Given the description of an element on the screen output the (x, y) to click on. 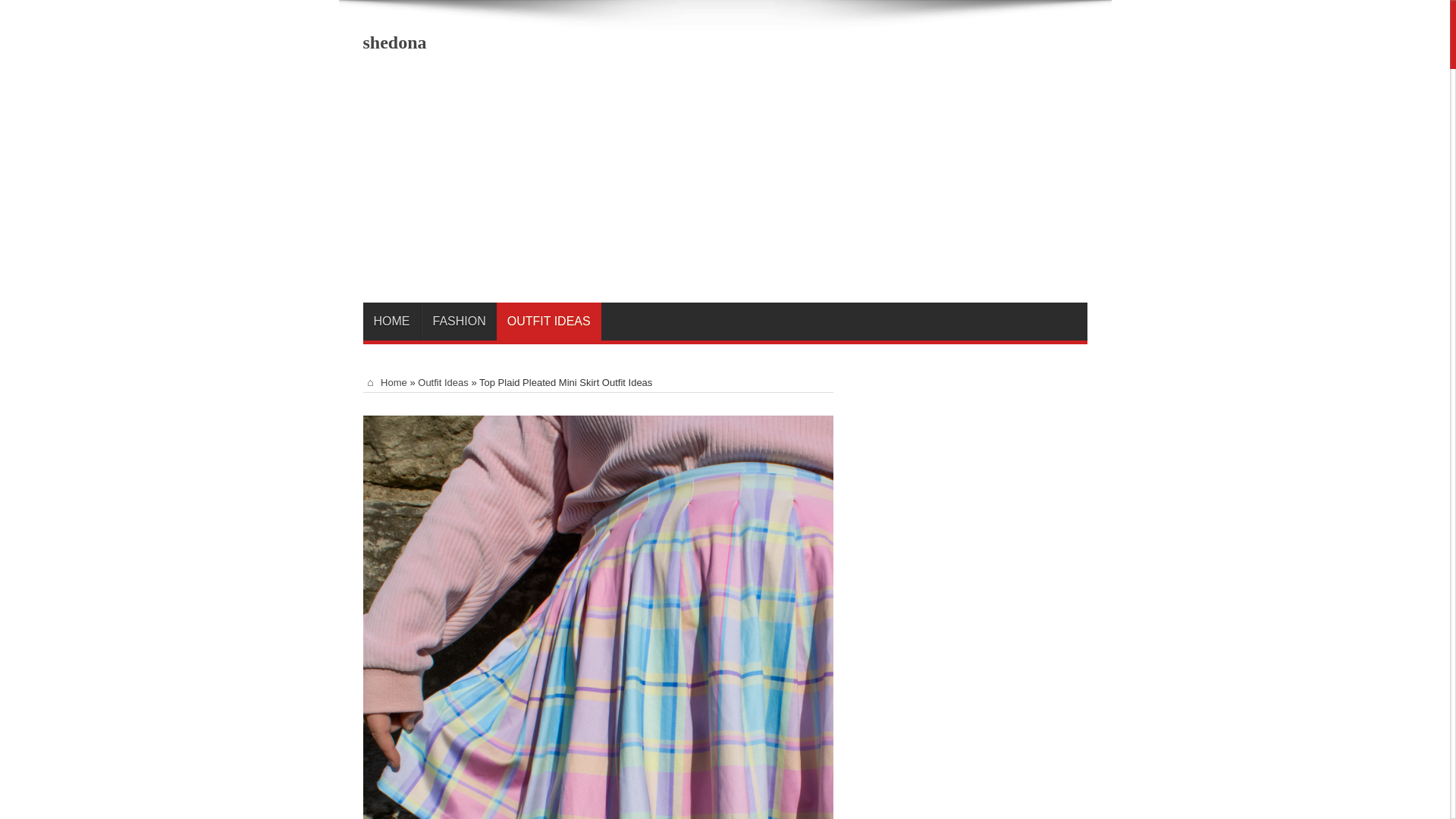
Outfit Ideas (442, 382)
FASHION (459, 321)
shedona (394, 42)
OUTFIT IDEAS (548, 321)
HOME (384, 382)
